Given the description of an element on the screen output the (x, y) to click on. 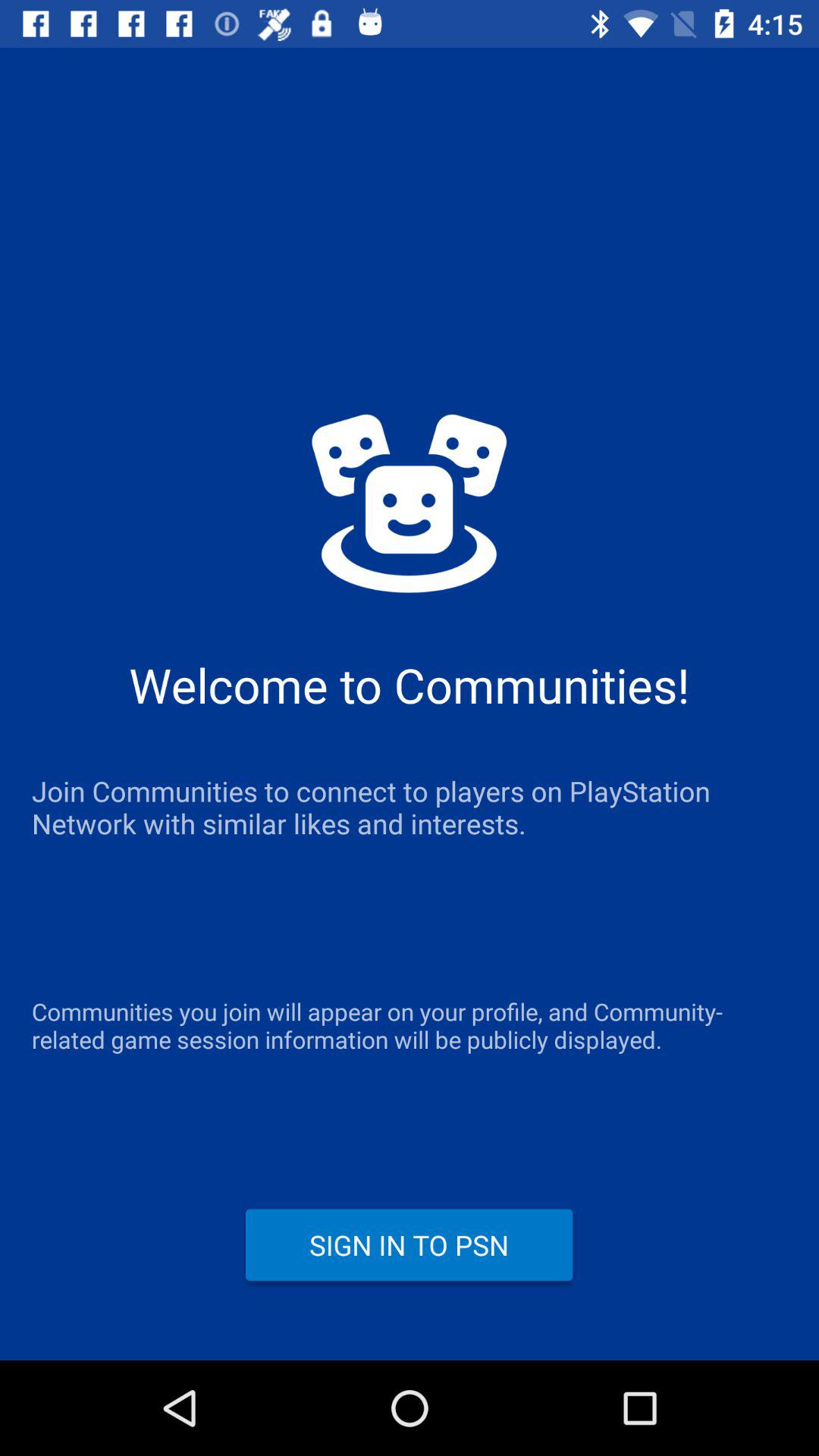
open the item below the communities you join icon (408, 1244)
